Given the description of an element on the screen output the (x, y) to click on. 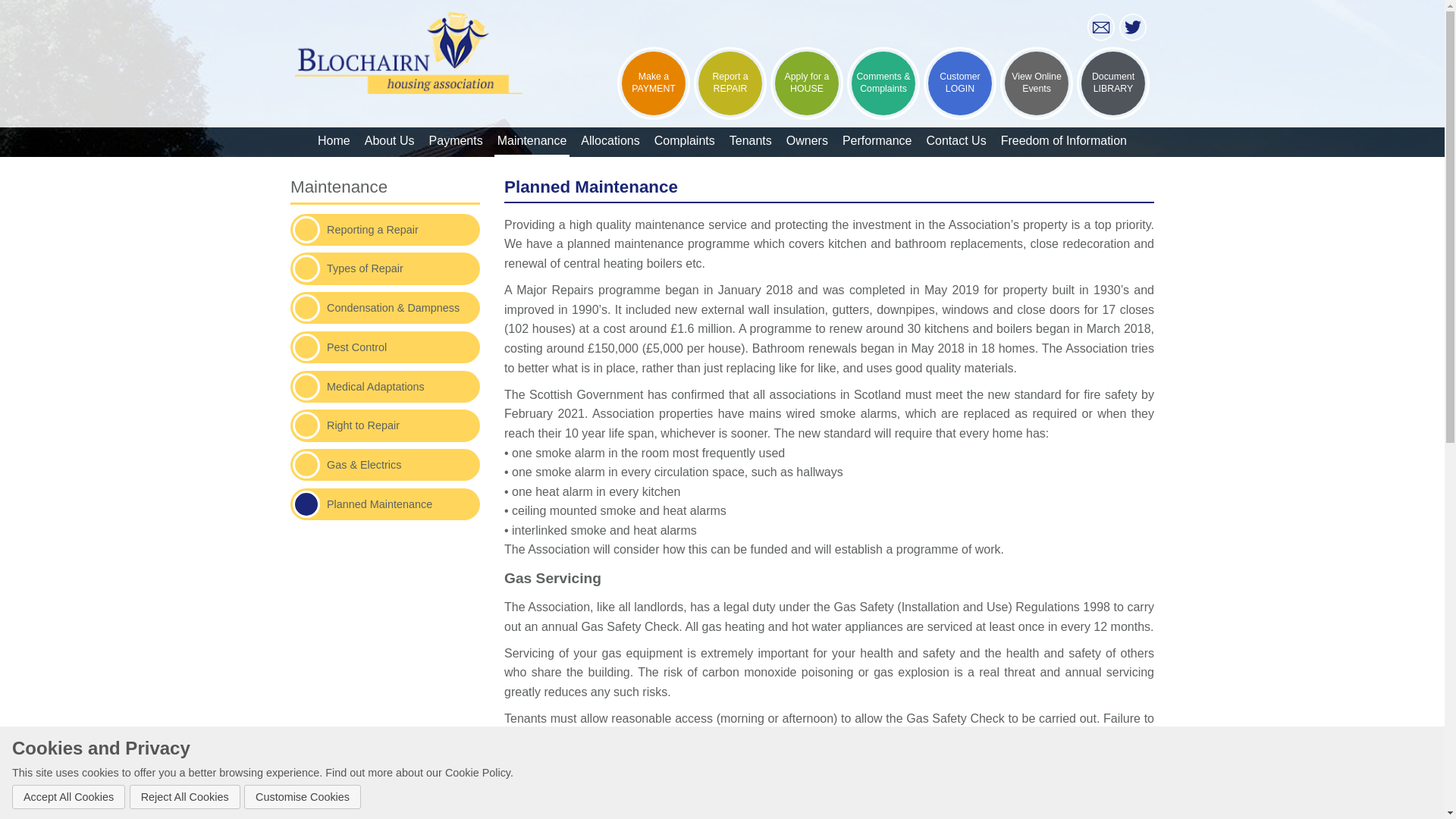
Customer LOGIN (959, 82)
View Online Events (1036, 82)
About Us (389, 142)
Maintenance (532, 142)
Make a PAYMENT (653, 82)
Report a REPAIR (730, 82)
Payments (456, 142)
Document LIBRARY (1113, 82)
Apply for a HOUSE (806, 82)
Find out more about the tenant login area (959, 82)
Home (333, 142)
